Given the description of an element on the screen output the (x, y) to click on. 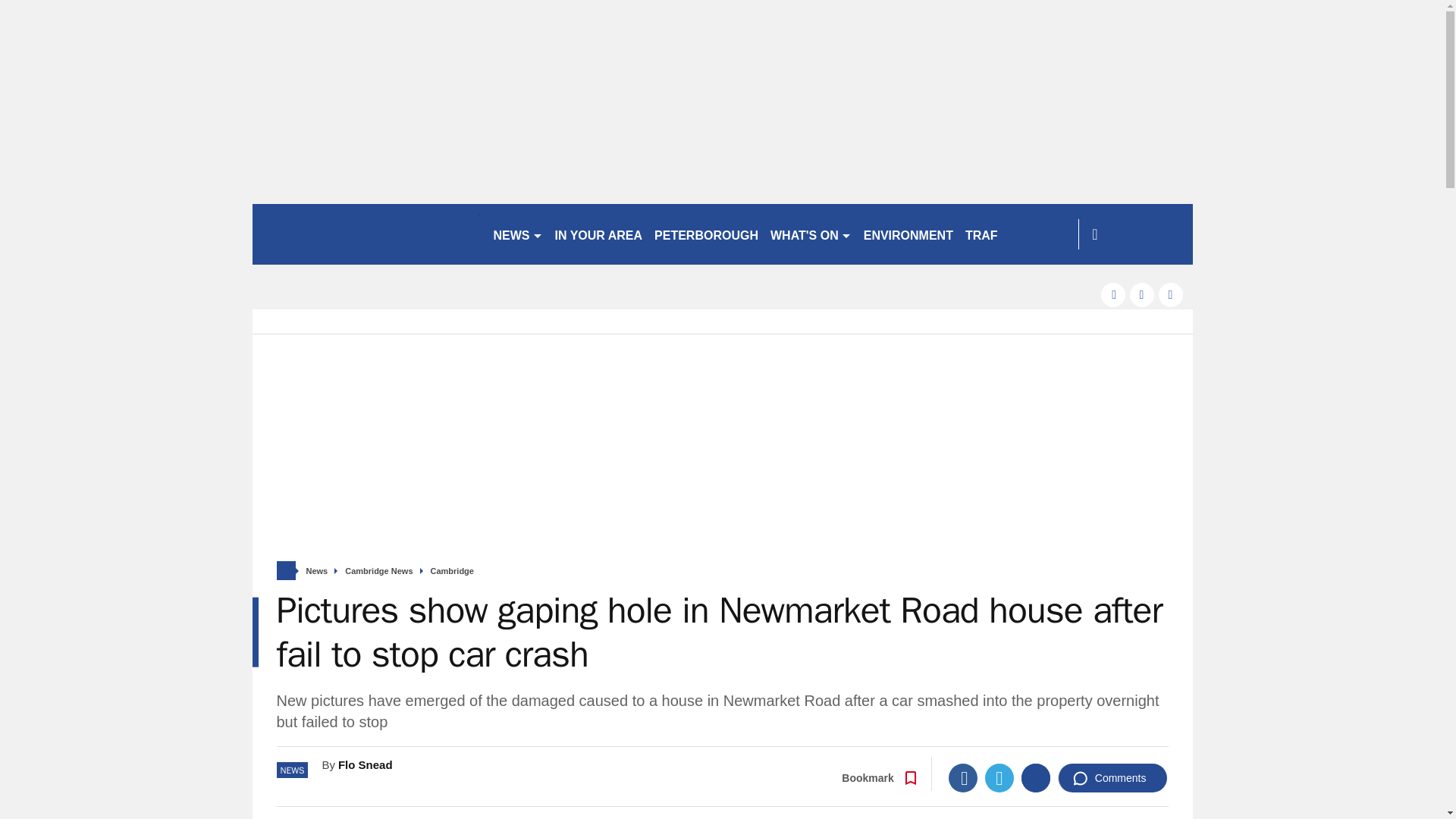
PETERBOROUGH (705, 233)
ENVIRONMENT (908, 233)
twitter (1141, 294)
IN YOUR AREA (598, 233)
instagram (1170, 294)
Twitter (999, 777)
cambridgenews (365, 233)
Comments (1112, 777)
Facebook (962, 777)
facebook (1112, 294)
NEWS (517, 233)
WHAT'S ON (810, 233)
